Given the description of an element on the screen output the (x, y) to click on. 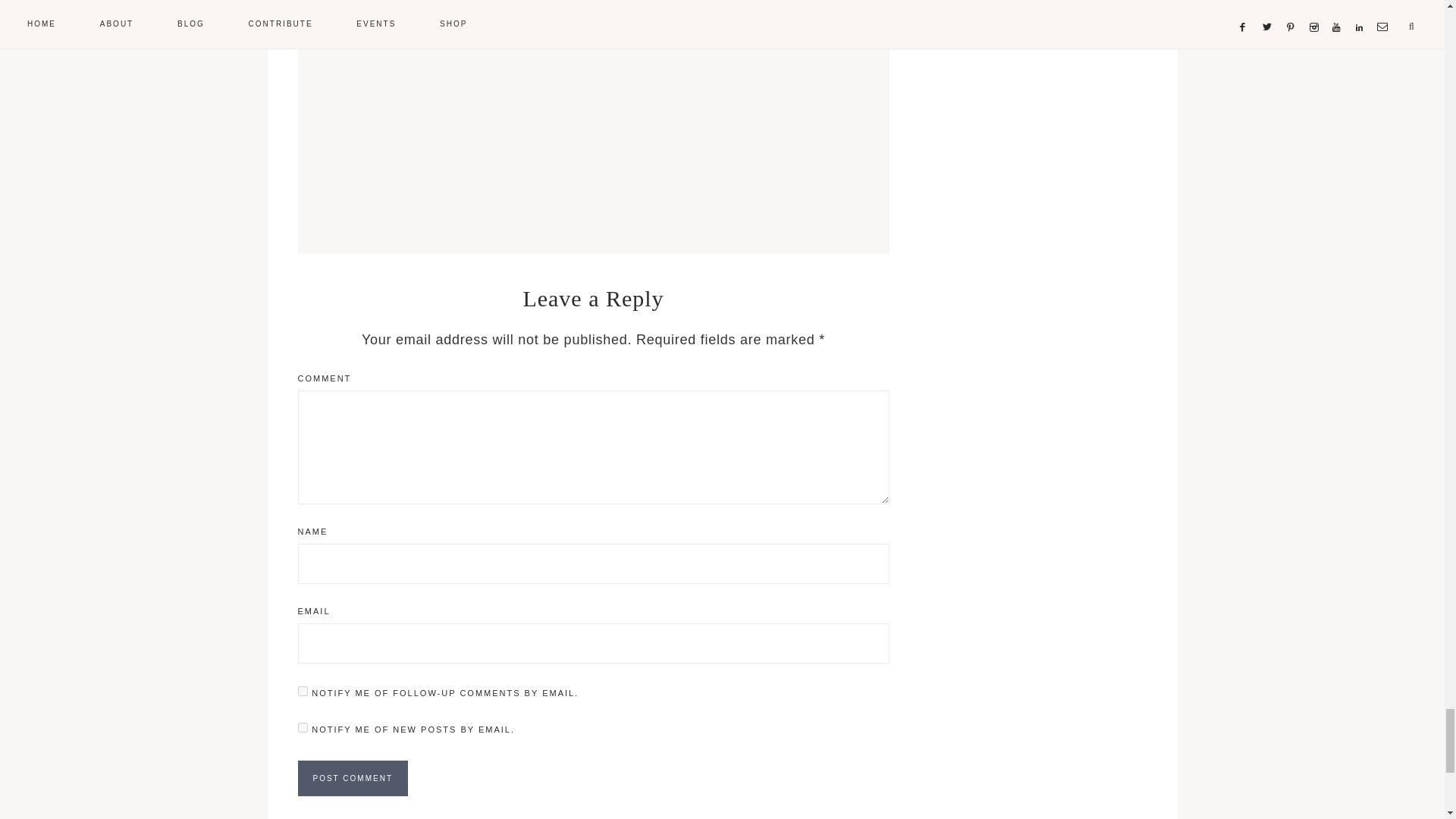
Post Comment (352, 778)
subscribe (302, 691)
subscribe (302, 727)
